Given the description of an element on the screen output the (x, y) to click on. 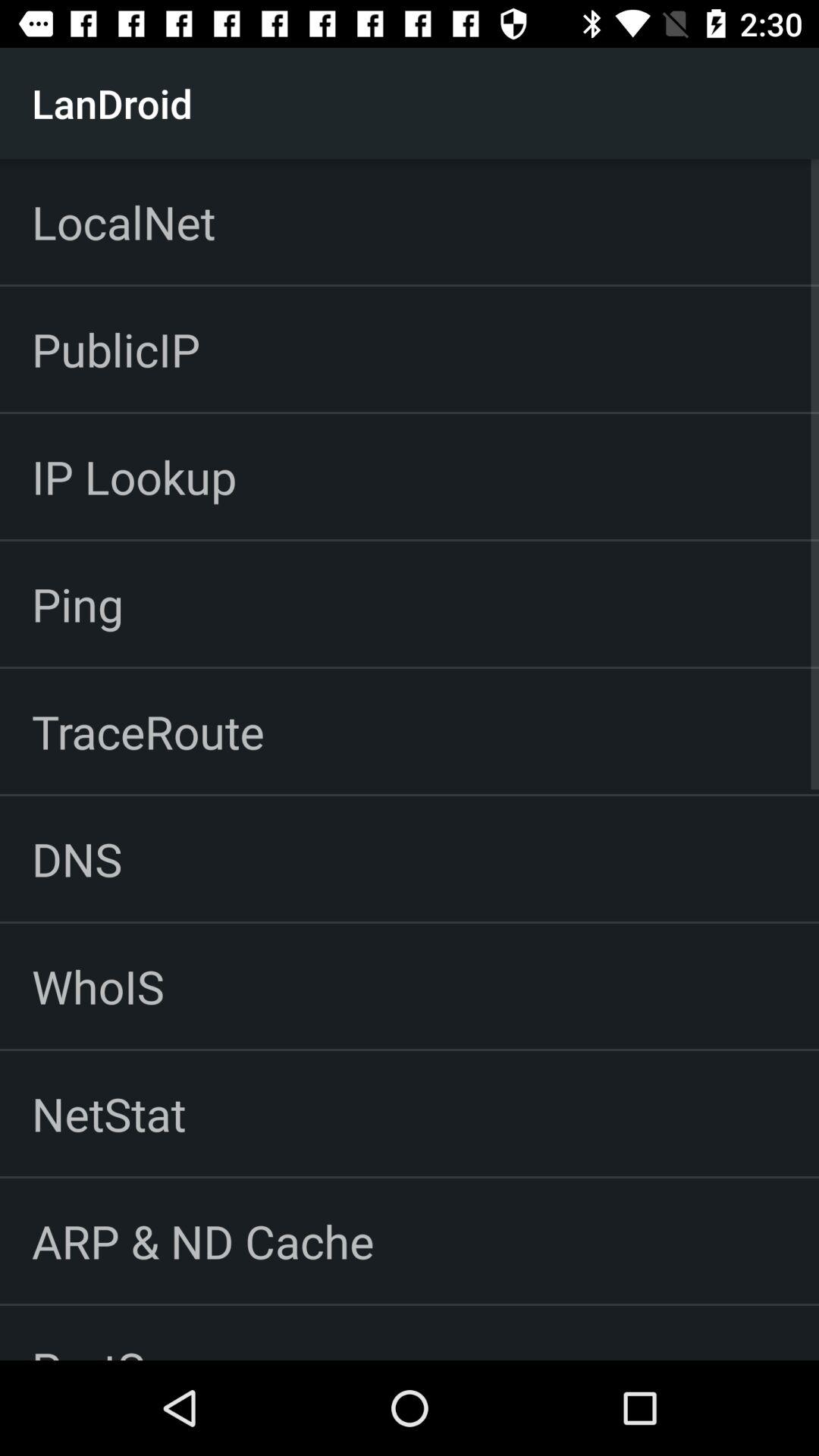
press app below whois item (108, 1113)
